Given the description of an element on the screen output the (x, y) to click on. 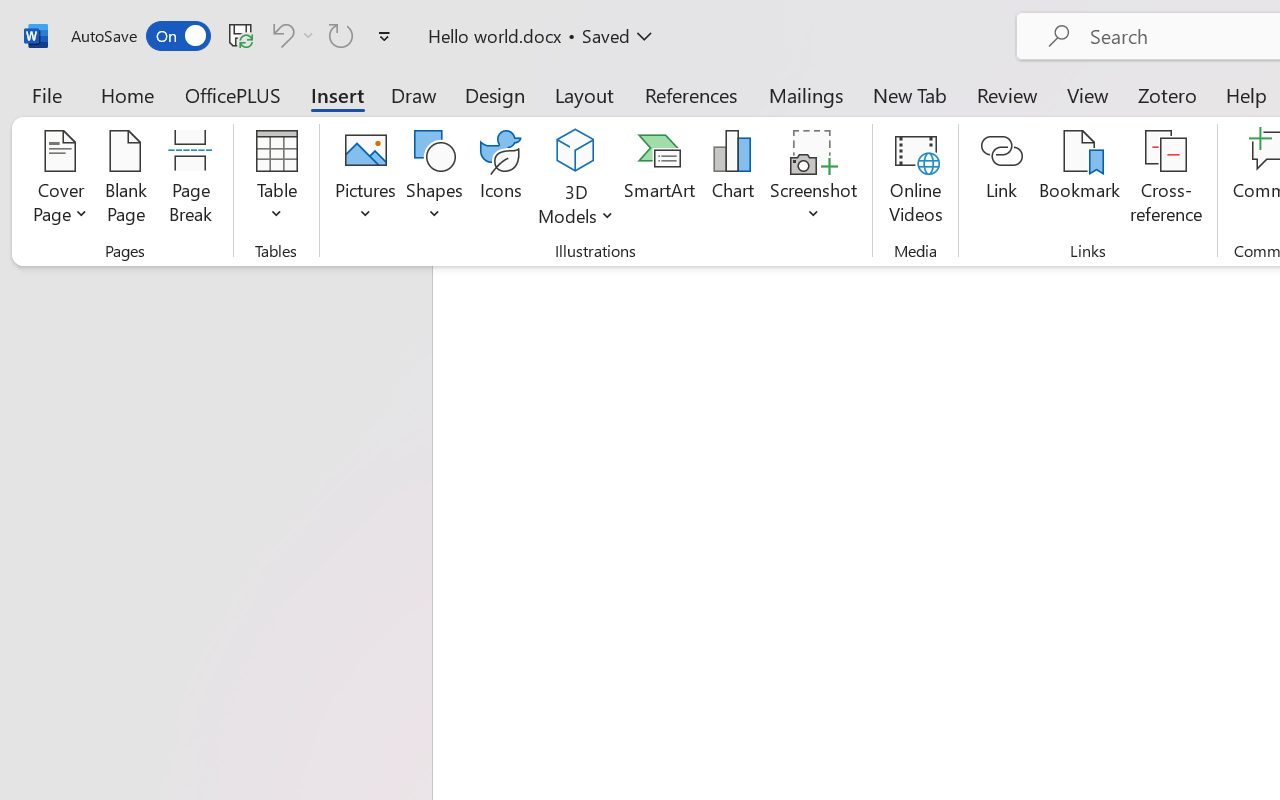
Pictures (365, 179)
File Tab (46, 94)
Can't Undo (290, 35)
Page Break (190, 179)
3D Models (576, 179)
Cross-reference... (1165, 179)
Cover Page (60, 179)
AutoSave (140, 35)
Home (127, 94)
Zotero (1166, 94)
Can't Undo (280, 35)
3D Models (576, 151)
Draw (413, 94)
Bookmark... (1079, 179)
